Given the description of an element on the screen output the (x, y) to click on. 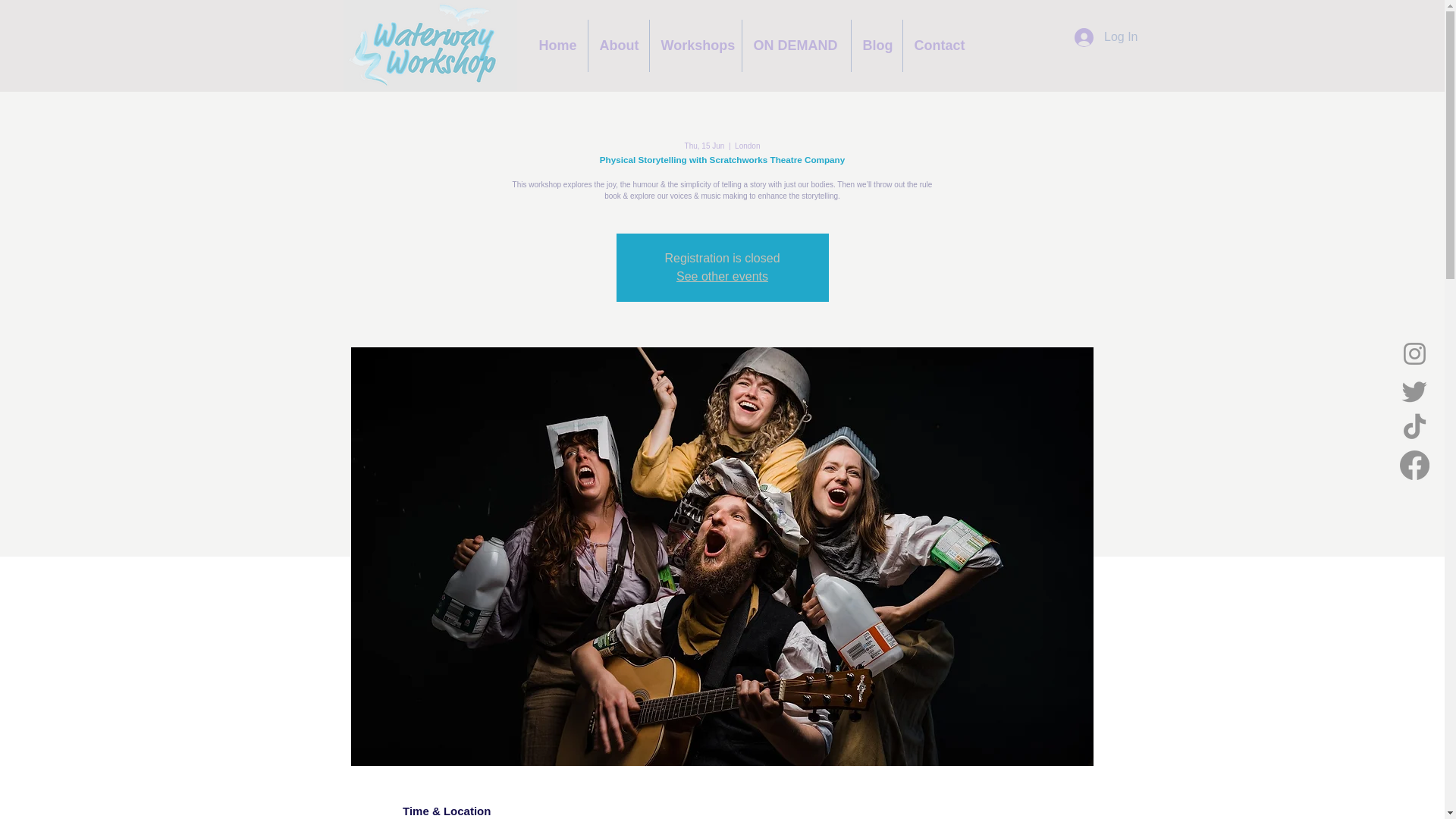
About (618, 45)
Contact (938, 45)
ON DEMAND (795, 45)
Blog (875, 45)
Log In (1106, 37)
Workshops (695, 45)
Home (557, 45)
See other events (722, 276)
